Given the description of an element on the screen output the (x, y) to click on. 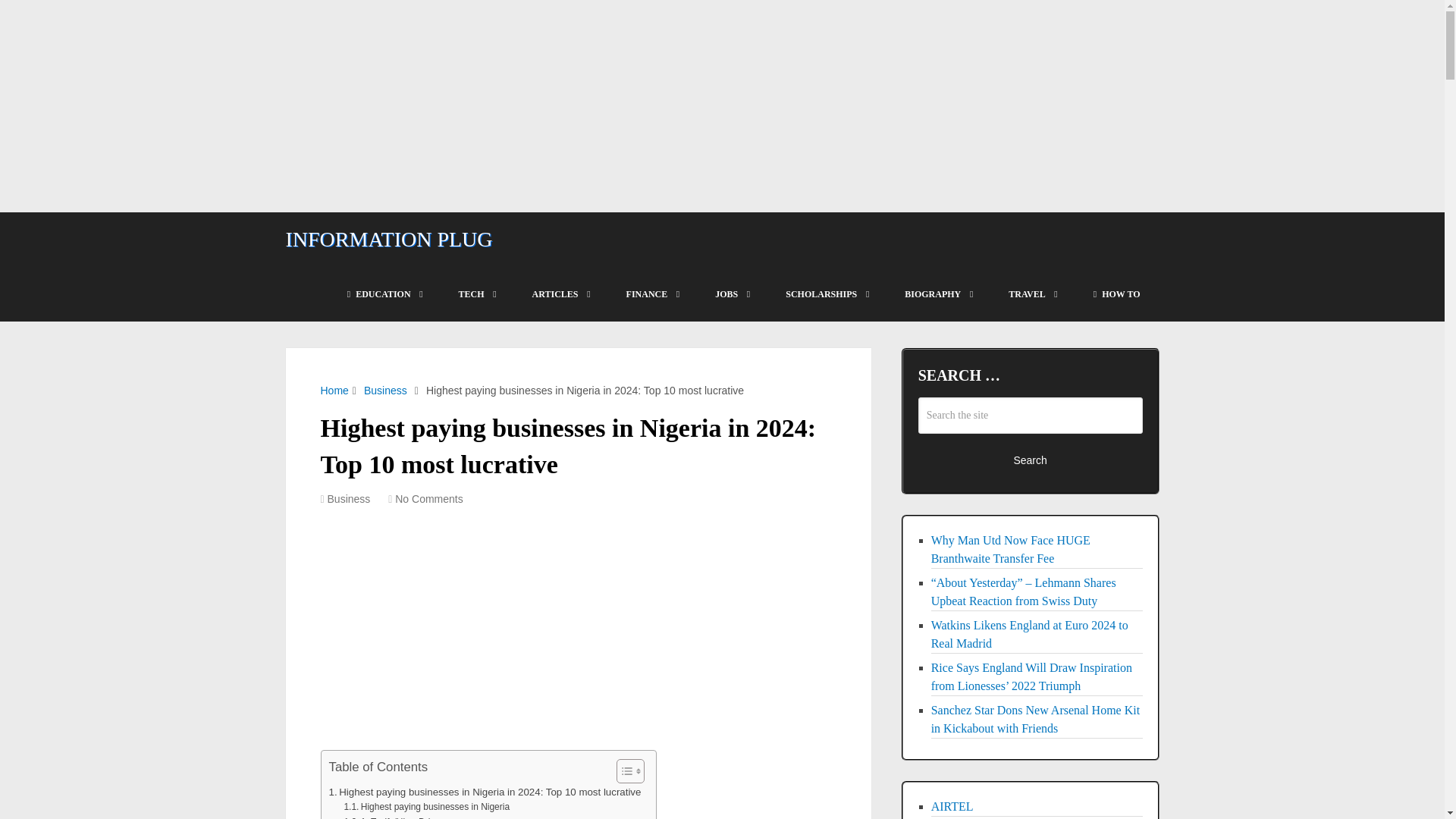
INFORMATION PLUG (388, 239)
TECH (476, 293)
View all posts in Business (349, 499)
SCHOLARSHIPS (826, 293)
ARTICLES (560, 293)
BIOGRAPHY (937, 293)
FINANCE (652, 293)
Advertisement (577, 635)
JOBS (731, 293)
